Given the description of an element on the screen output the (x, y) to click on. 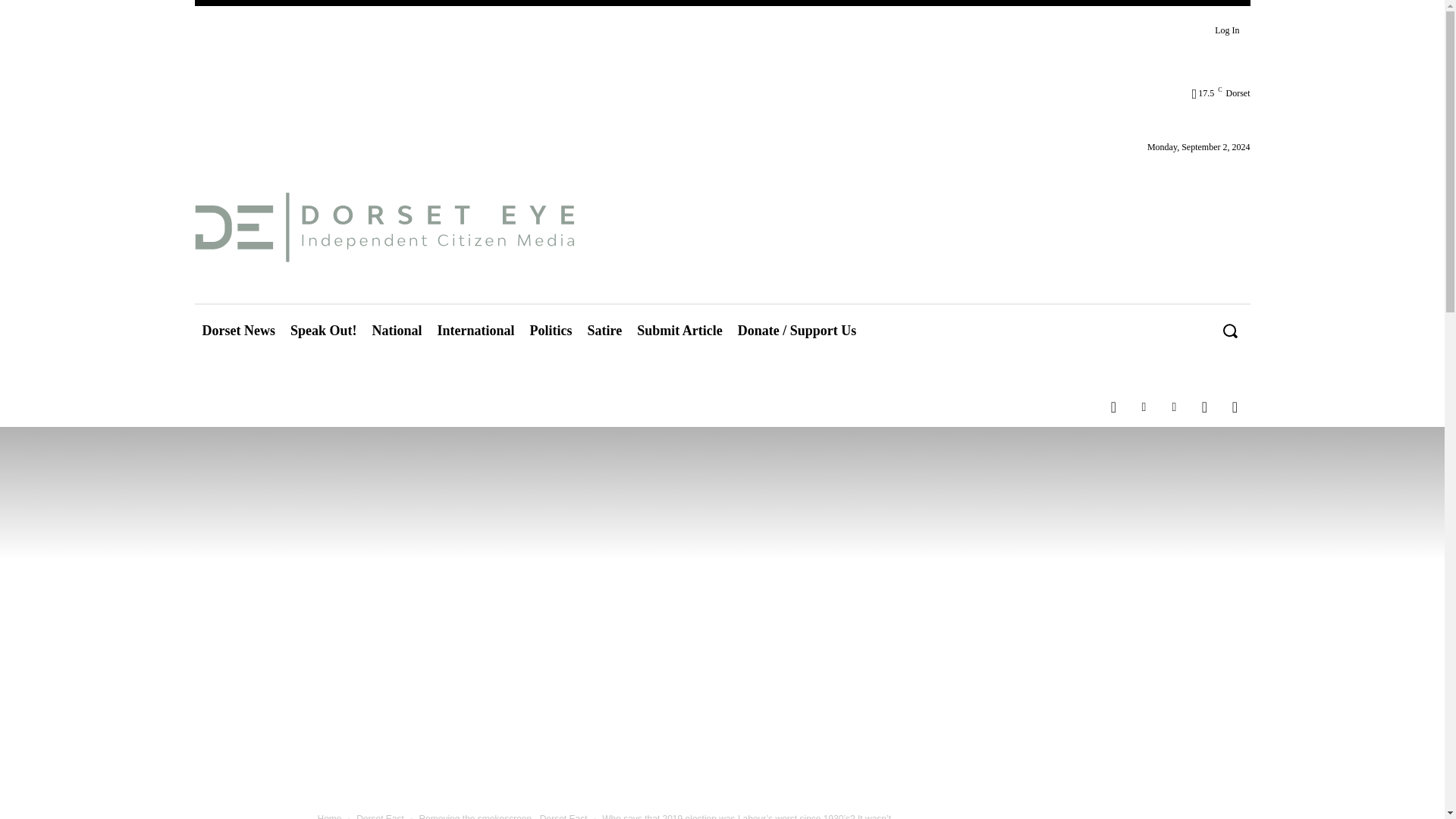
Politics (550, 330)
Submit Article (679, 330)
Facebook (1112, 407)
Log In (1226, 30)
National (396, 330)
Youtube (1234, 407)
Speak Out! (323, 330)
Linkedin (1143, 407)
Satire (604, 330)
Dorset News (237, 330)
